Given the description of an element on the screen output the (x, y) to click on. 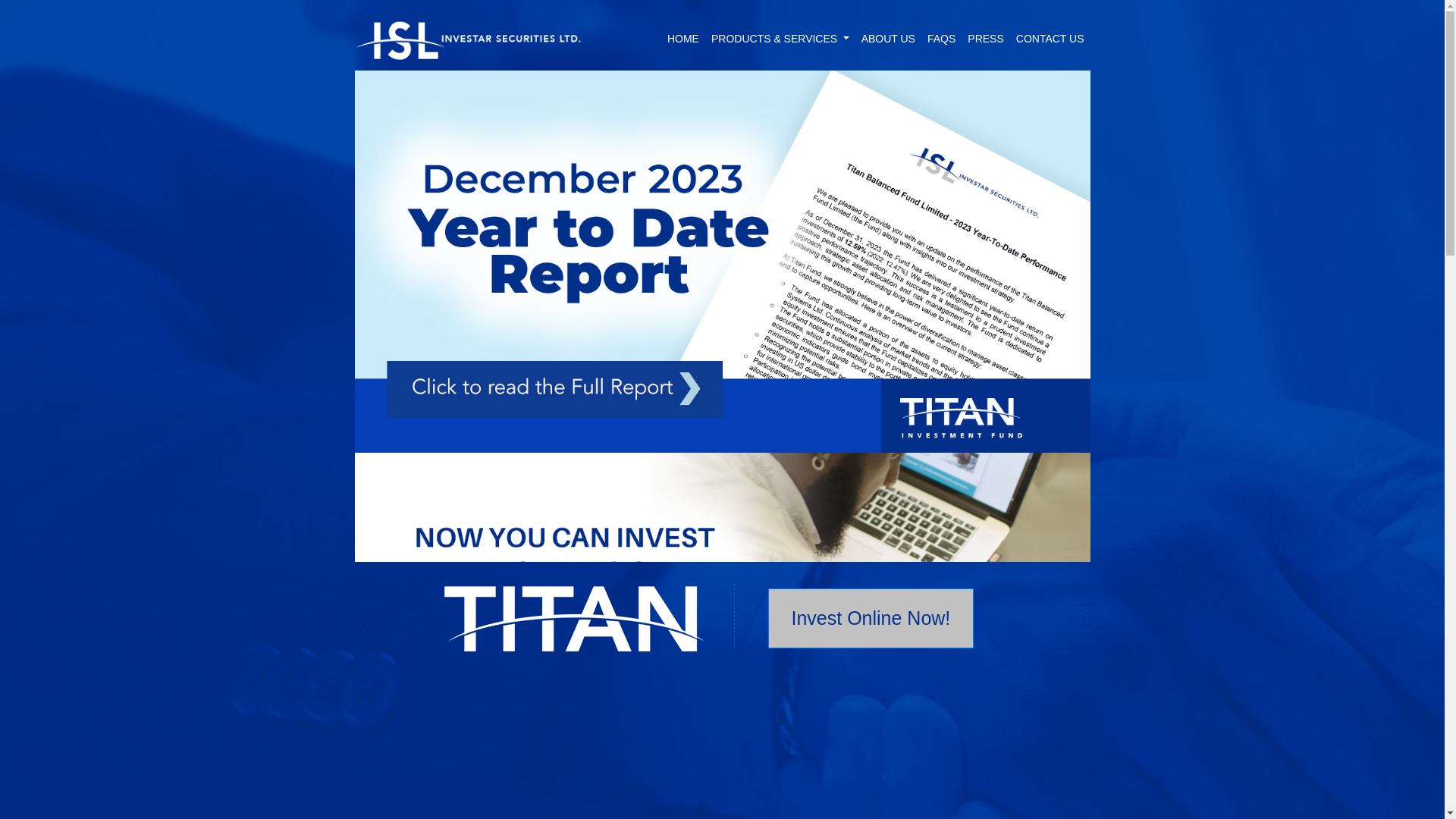
PRESS (984, 39)
Invest Online Now! (870, 618)
About Us (888, 39)
FAQS (940, 39)
Home (682, 39)
CONTACT US (1050, 39)
FAQs (940, 39)
Contact Us (1050, 39)
Press (984, 39)
ABOUT US (888, 39)
HOME (682, 39)
